Given the description of an element on the screen output the (x, y) to click on. 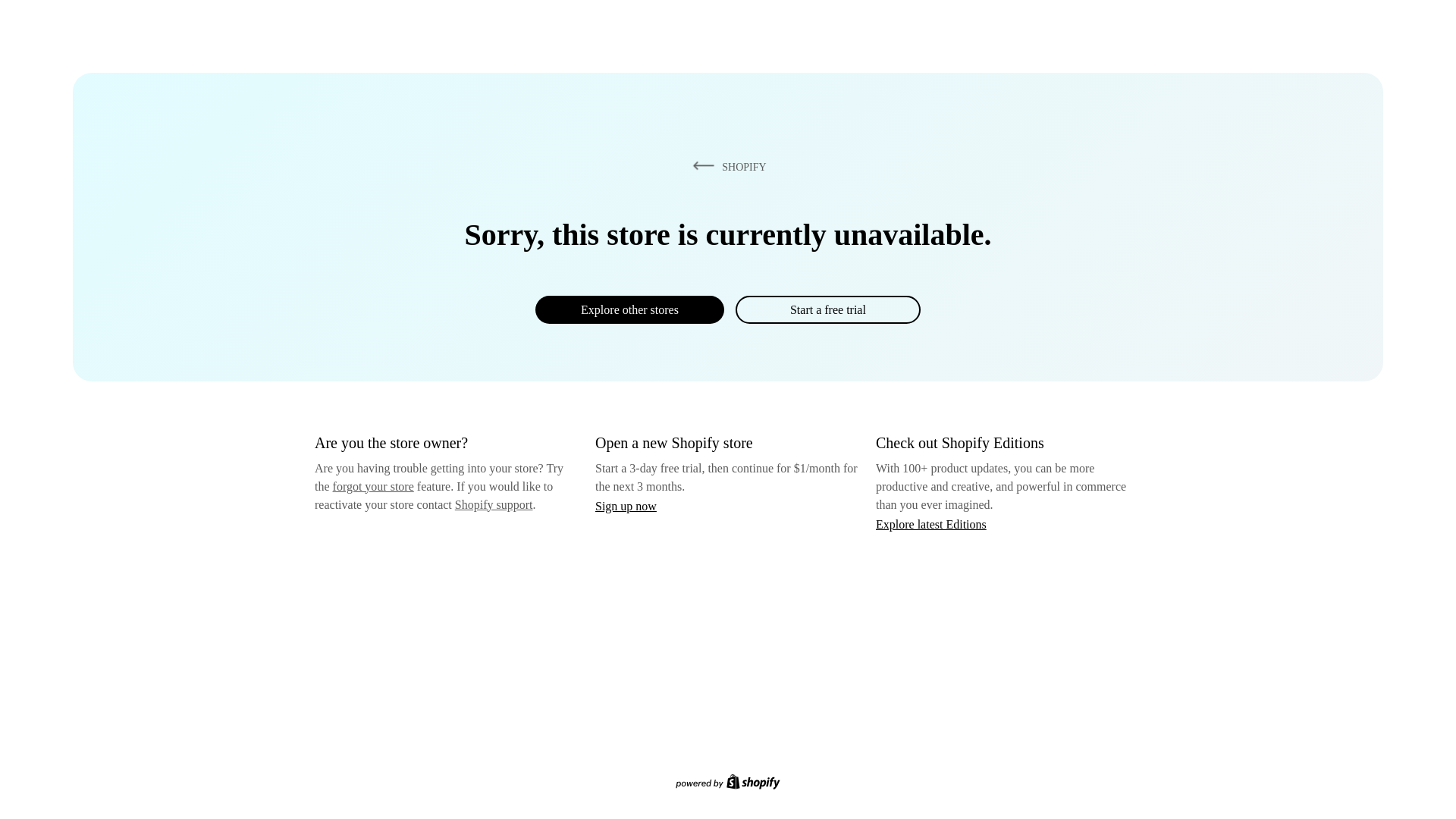
Explore latest Editions (931, 523)
Start a free trial (827, 309)
Shopify support (493, 504)
Sign up now (625, 505)
forgot your store (373, 486)
Explore other stores (629, 309)
SHOPIFY (726, 166)
